Given the description of an element on the screen output the (x, y) to click on. 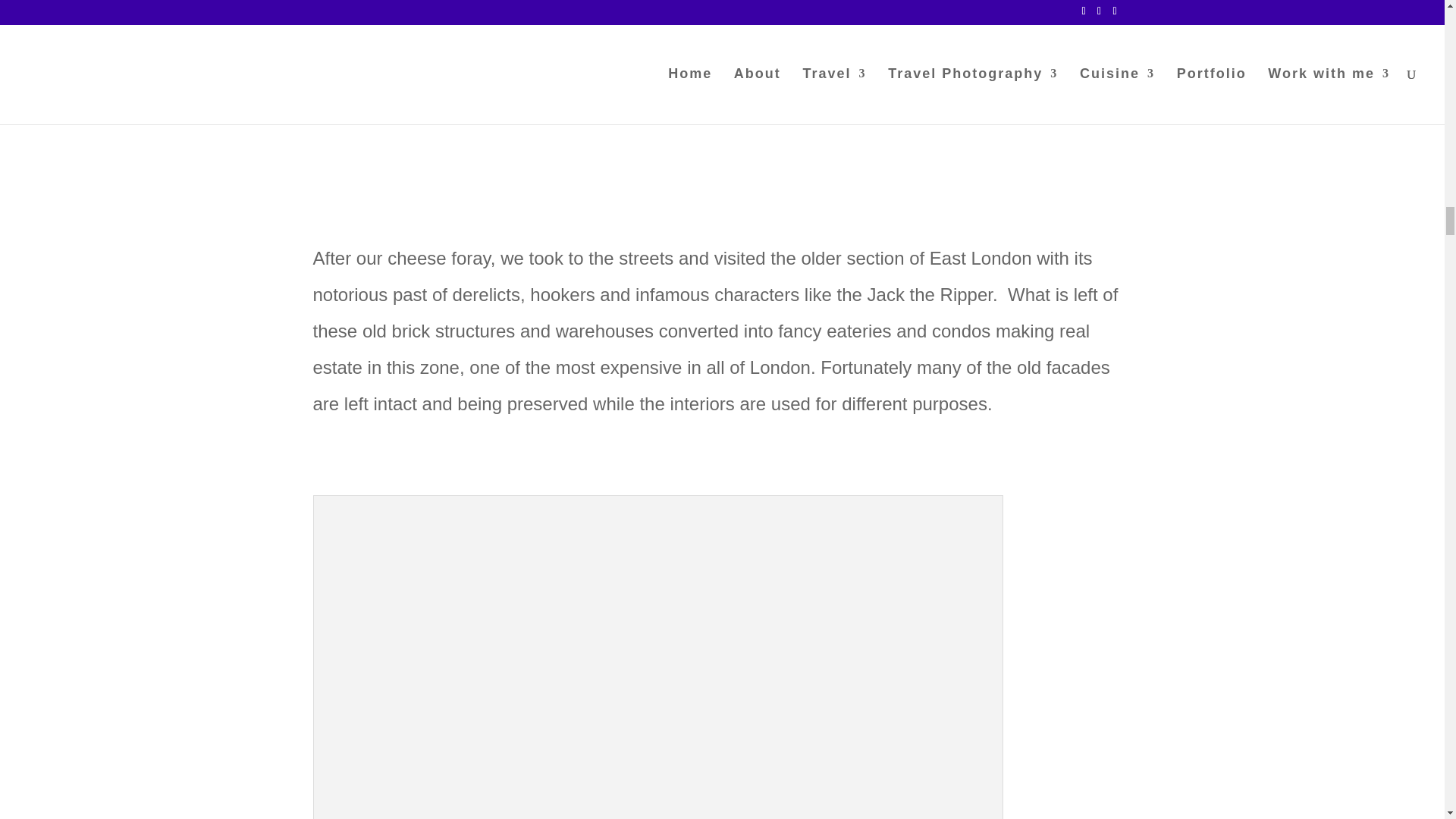
Eating London 27 (657, 38)
